Given the description of an element on the screen output the (x, y) to click on. 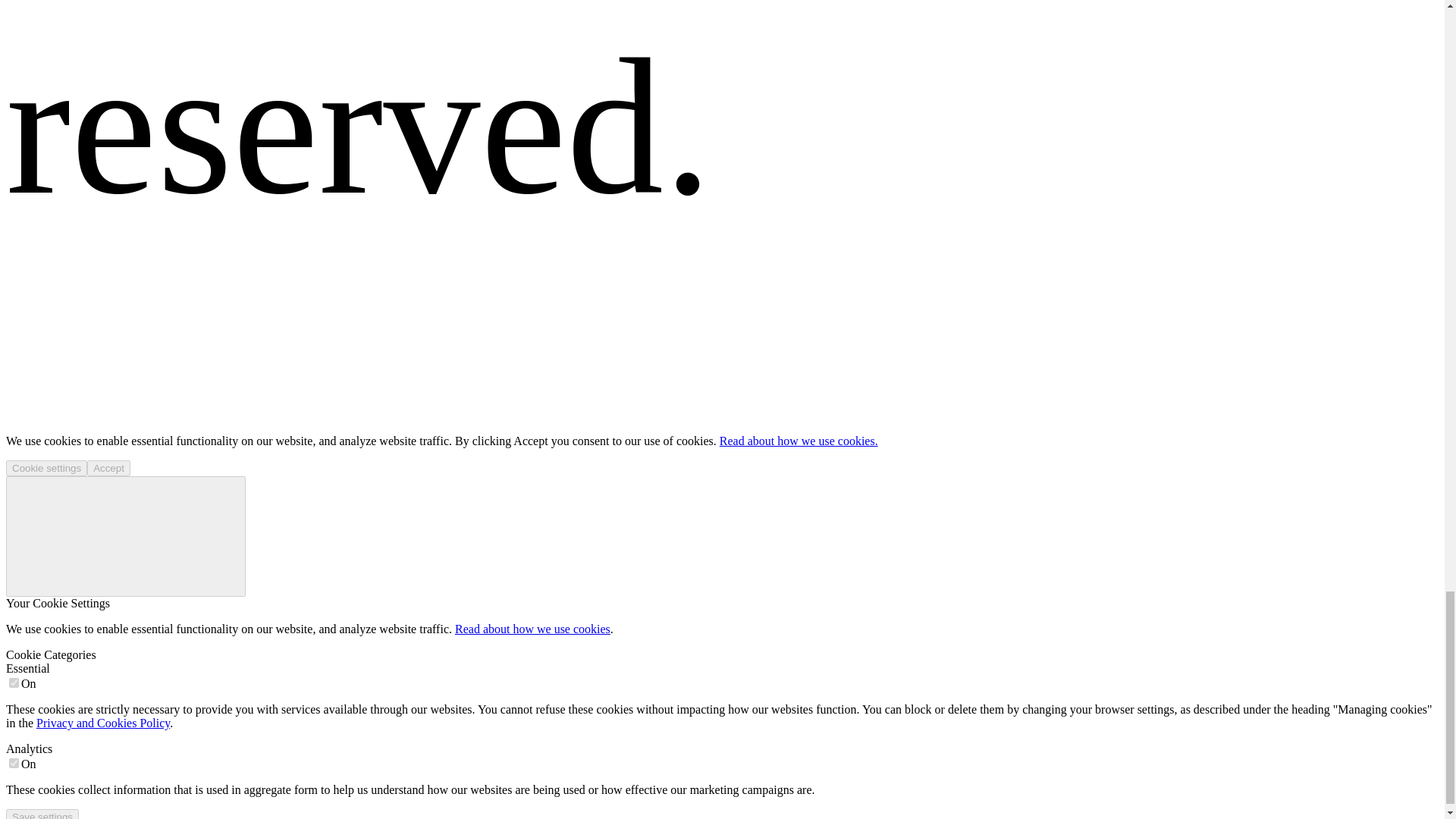
Read about how we use cookies (532, 628)
Accept (109, 467)
Cookie settings (46, 467)
on (13, 682)
Read about how we use cookies. (798, 440)
on (13, 763)
Privacy and Cookies Policy (103, 722)
